Given the description of an element on the screen output the (x, y) to click on. 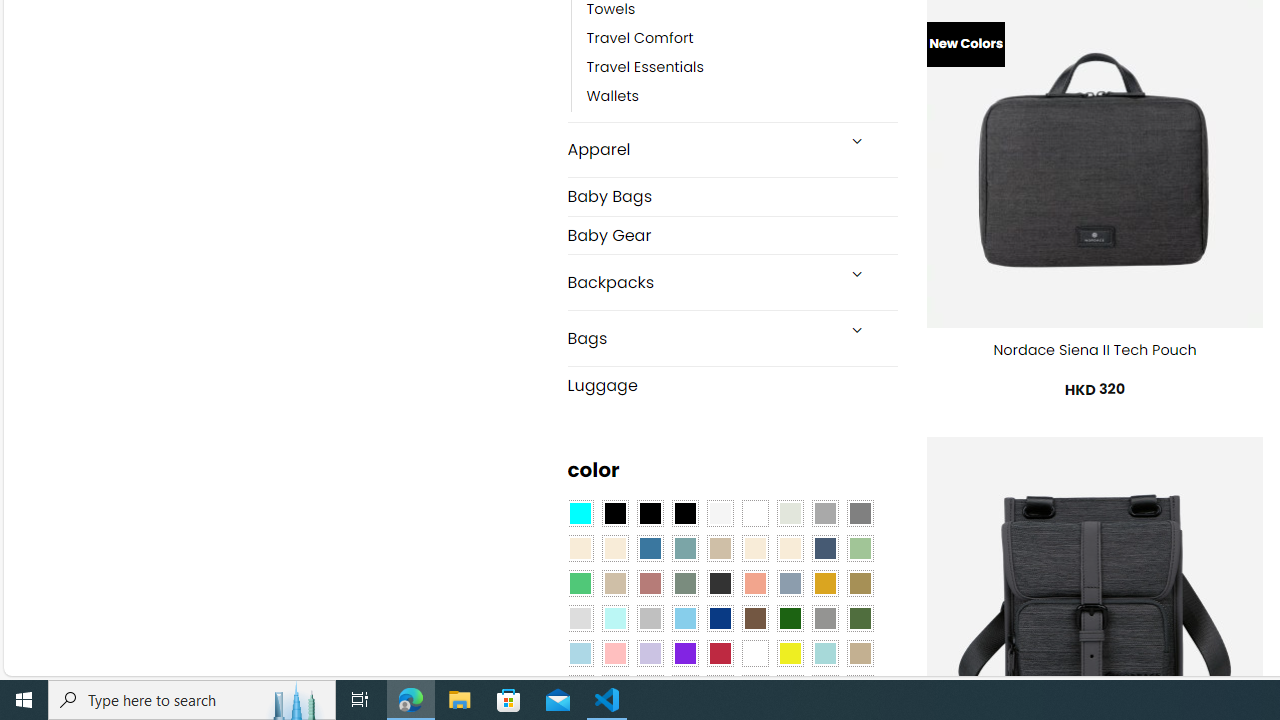
Baby Bags (732, 196)
Apparel (700, 150)
Light Gray (579, 619)
Aqua (824, 653)
Purple (684, 653)
White (755, 653)
Beige-Brown (614, 548)
Brown (755, 619)
Travel Essentials (645, 67)
Aqua Blue (579, 514)
Sky Blue (684, 619)
Baby Bags (732, 196)
Wallets (742, 97)
Ash Gray (789, 514)
Mint (614, 619)
